Given the description of an element on the screen output the (x, y) to click on. 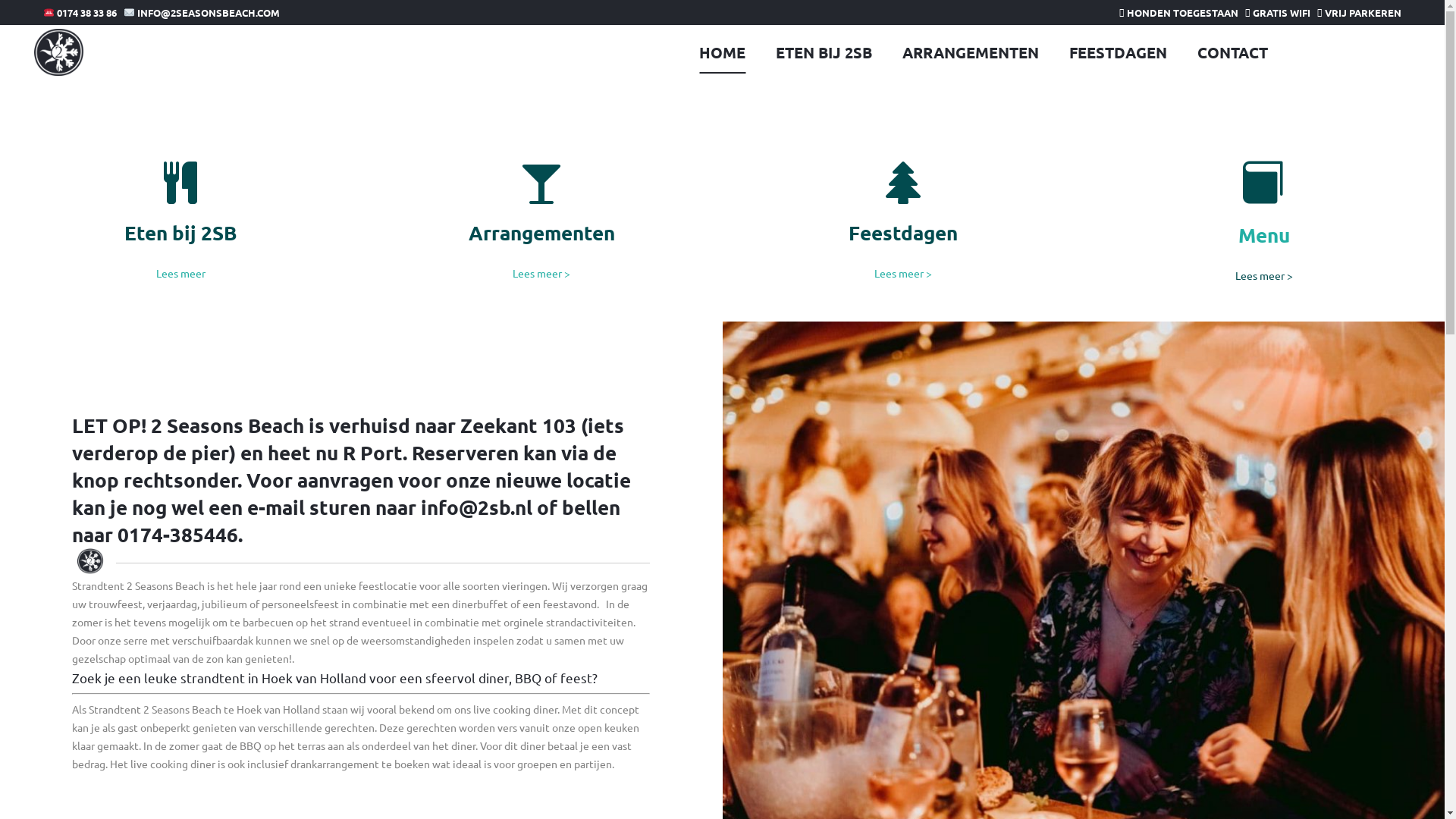
ARRANGEMENTEN Element type: text (970, 52)
RESERVEREN Element type: text (1346, 52)
0174 38 33 86 Element type: text (79, 12)
Lees meer > Element type: text (1263, 275)
HOME Element type: text (722, 52)
Lees meer Element type: text (180, 272)
Lees meer > Element type: text (902, 272)
Lees meer > Element type: text (541, 272)
ETEN BIJ 2SB Element type: text (823, 52)
FEESTDAGEN Element type: text (1118, 52)
INFO@2SEASONSBEACH.COM Element type: text (201, 12)
CONTACT Element type: text (1232, 52)
